Given the description of an element on the screen output the (x, y) to click on. 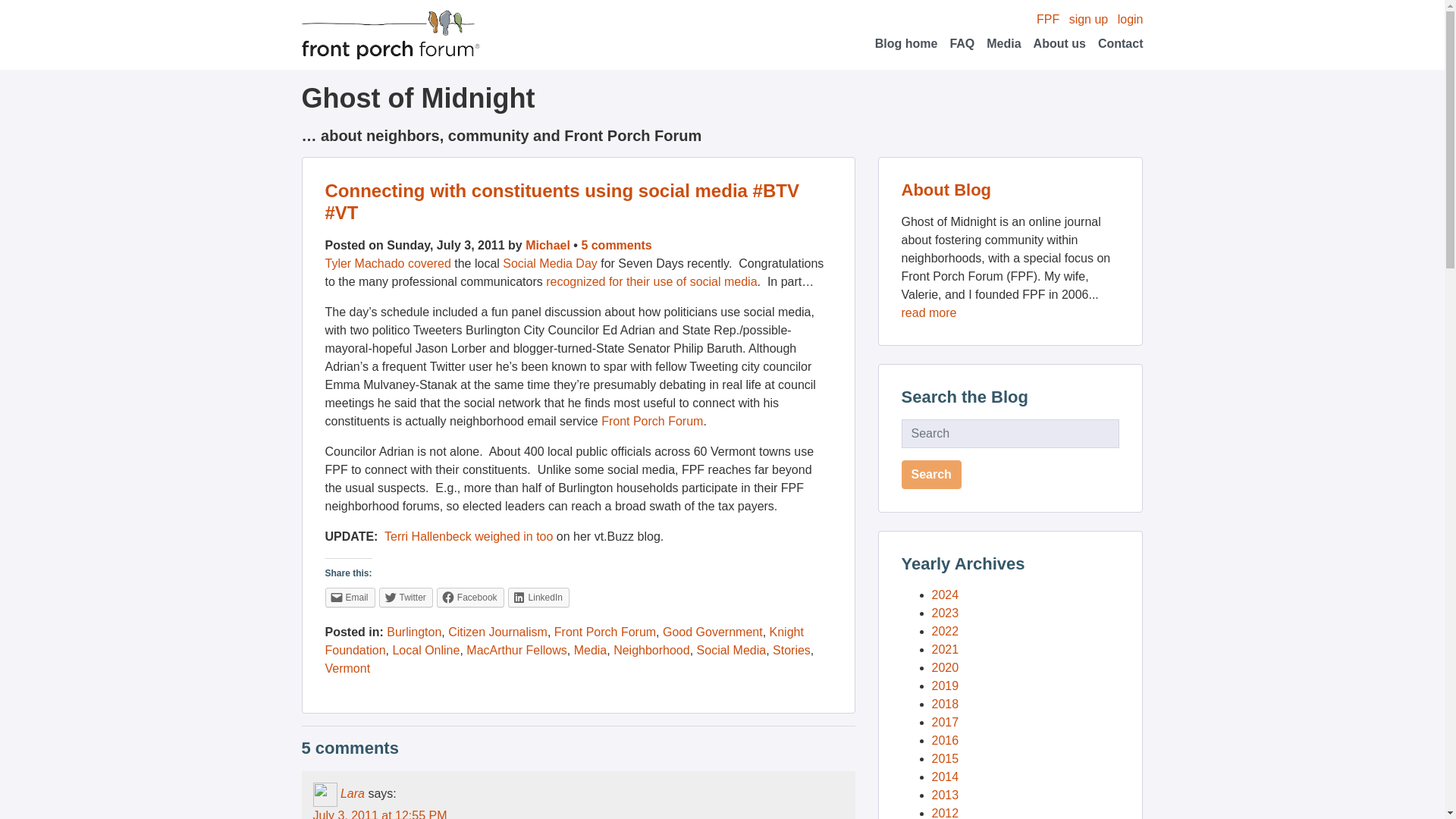
Citizen Journalism (497, 631)
Click to share on Twitter (405, 597)
Social Media Day (549, 263)
Click to share on Facebook (469, 597)
5 comments (615, 245)
Click to share on LinkedIn (538, 597)
Front Porch Forum (652, 420)
LinkedIn (538, 597)
Neighborhood (651, 649)
Email (349, 597)
